Given the description of an element on the screen output the (x, y) to click on. 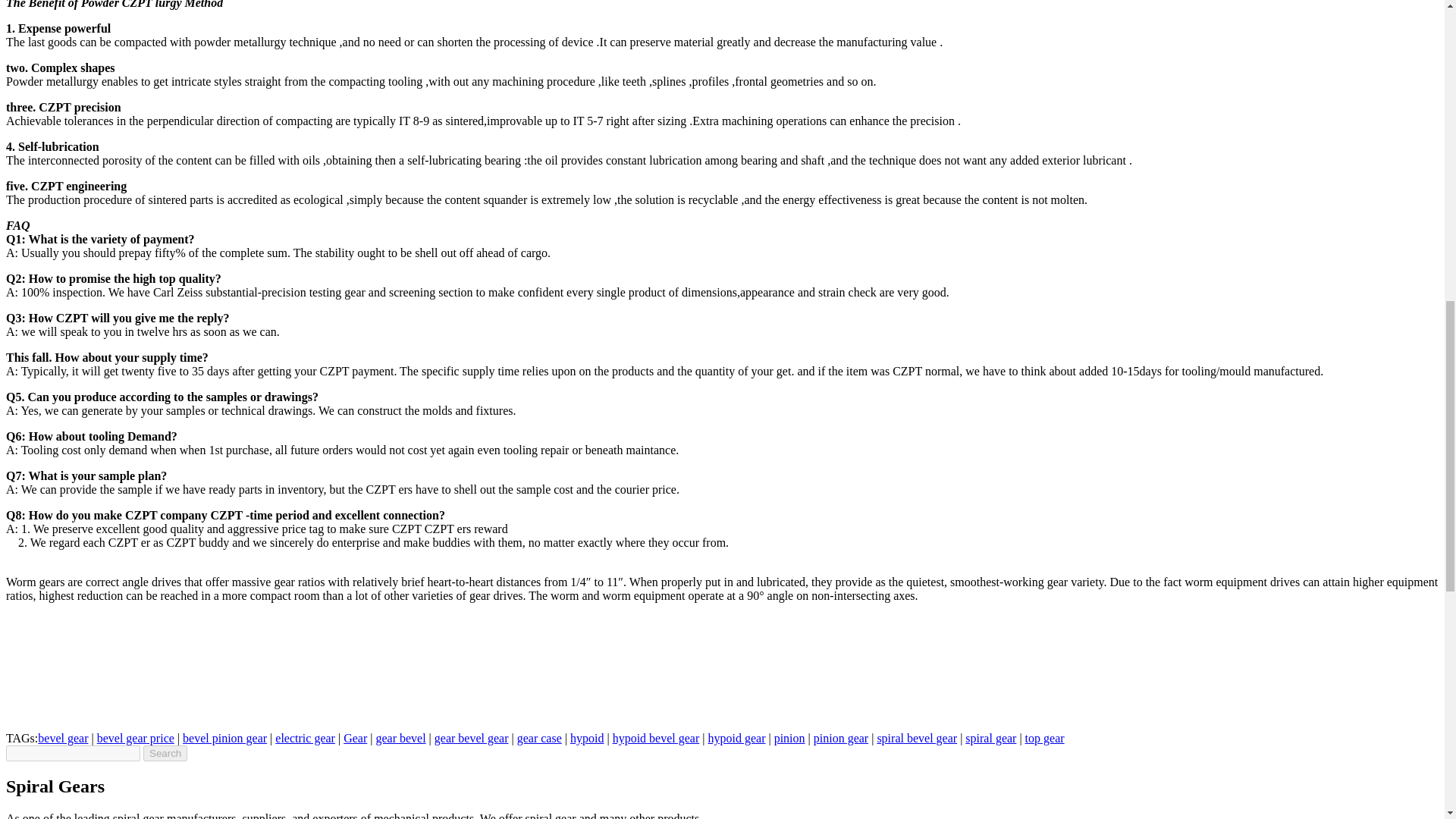
gear bevel (400, 738)
gear bevel gear (470, 738)
top gear (1044, 738)
Search (164, 753)
pinion (789, 738)
electric gear (304, 738)
Search (164, 753)
hypoid bevel gear (656, 738)
spiral bevel gear (916, 738)
bevel gear (62, 738)
gear case (539, 738)
bevel gear price (135, 738)
hypoid gear (736, 738)
Gear (354, 738)
spiral gear (990, 738)
